Given the description of an element on the screen output the (x, y) to click on. 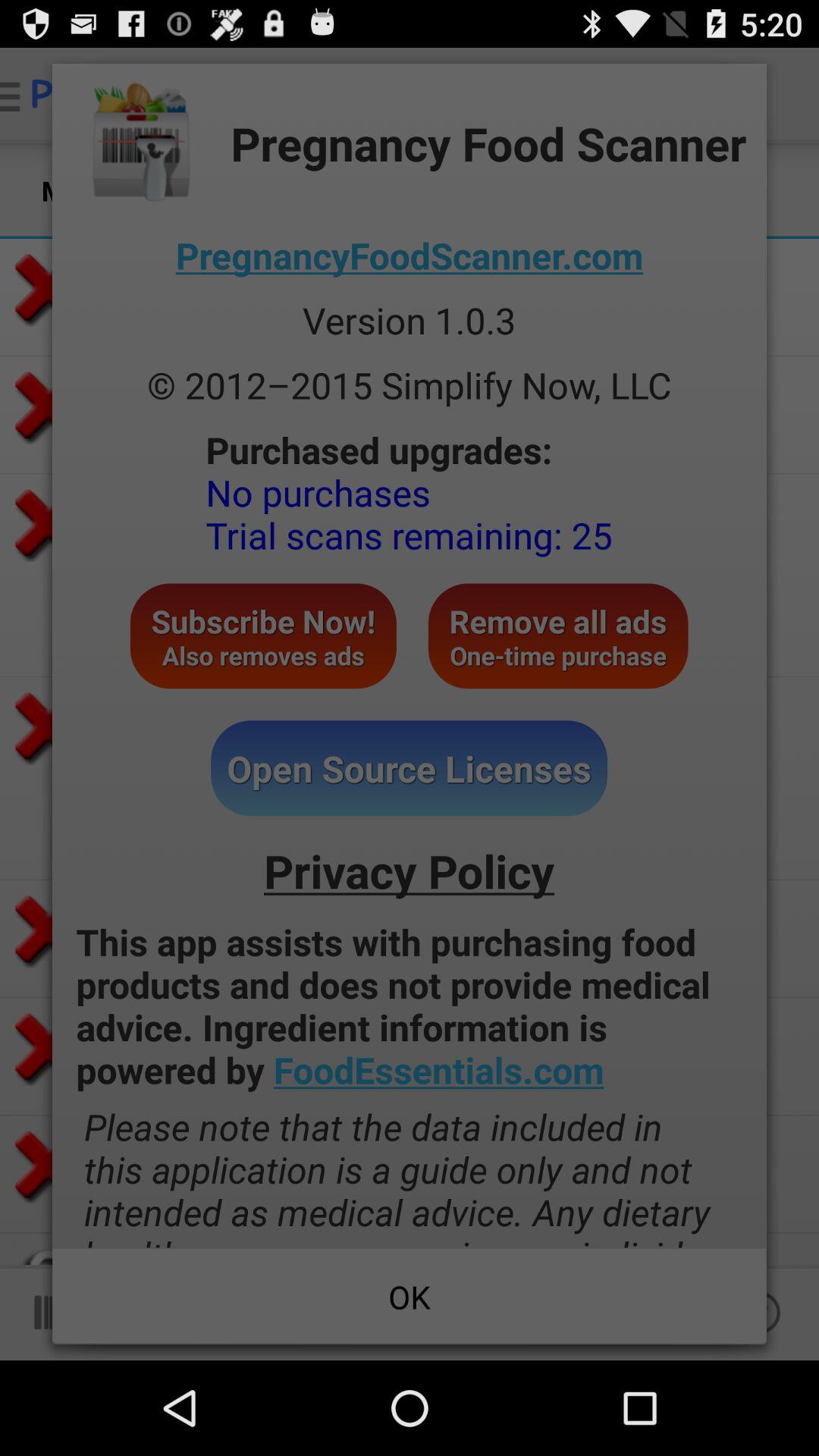
choose the icon above the open source licenses button (263, 635)
